Given the description of an element on the screen output the (x, y) to click on. 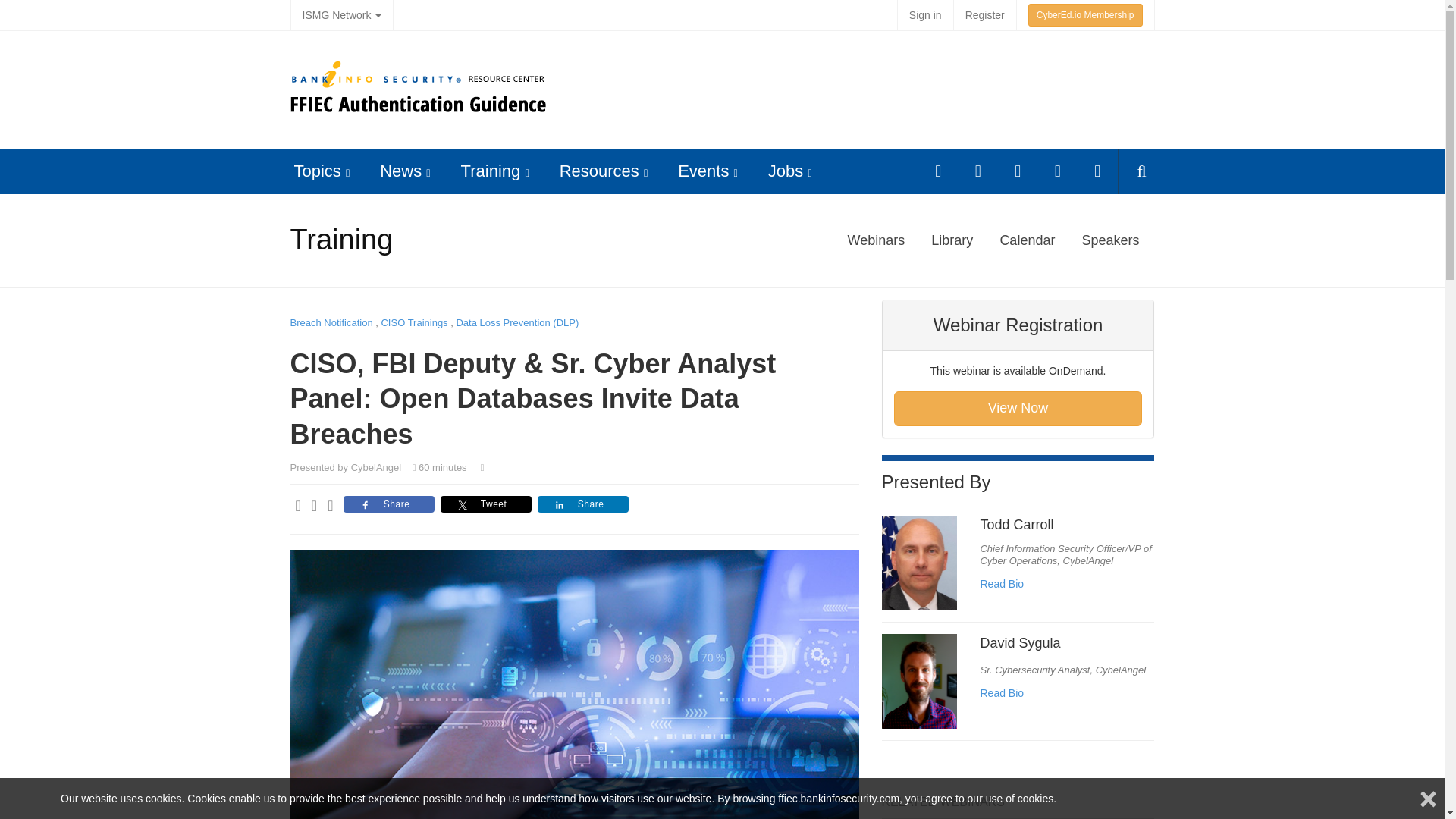
News (401, 170)
Topics (317, 170)
CyberEd.io Membership (1084, 15)
ISMG Network (341, 15)
Register (984, 15)
Sign in (925, 15)
3rd party ad content (873, 88)
